Given the description of an element on the screen output the (x, y) to click on. 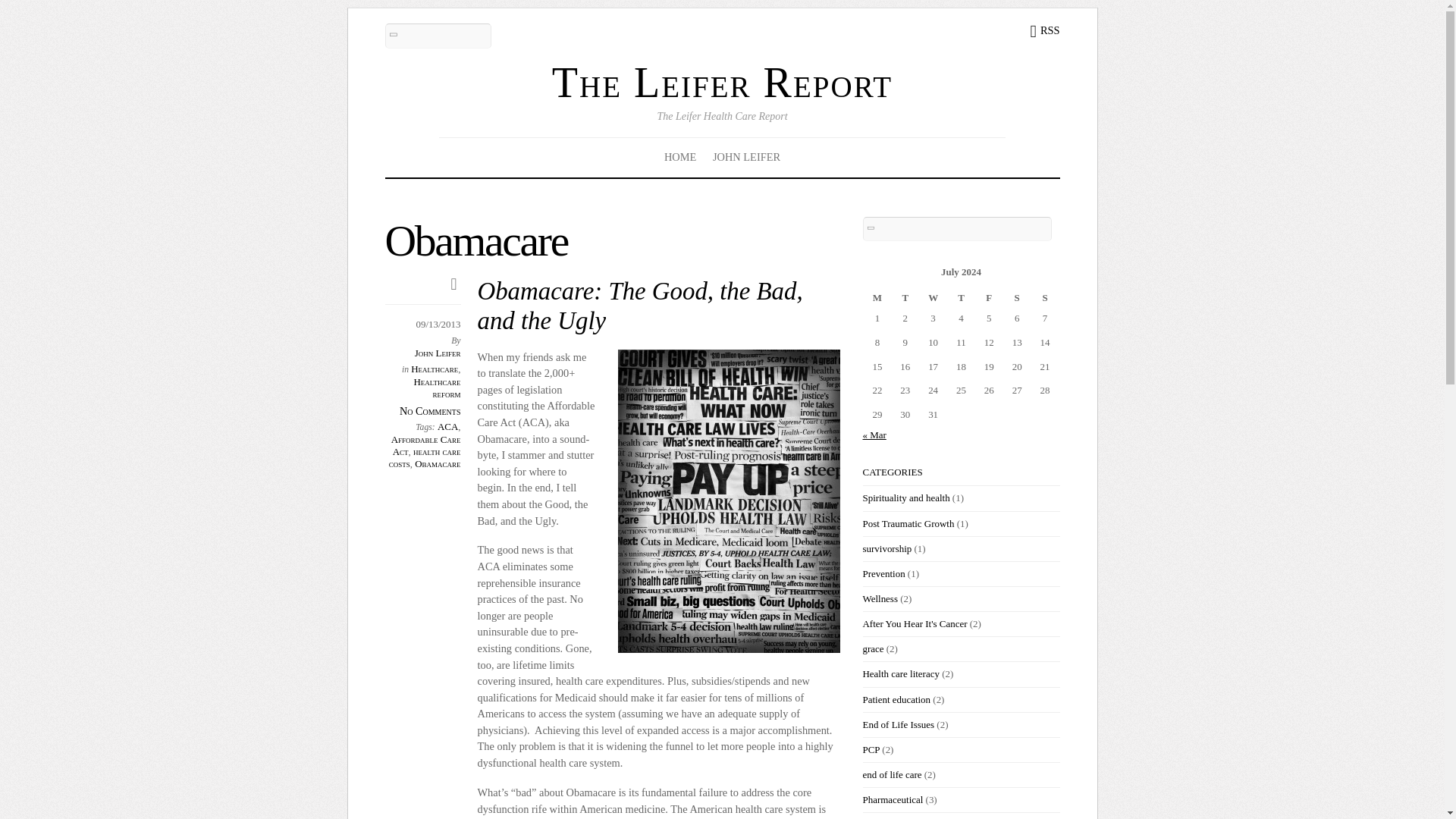
grace (873, 648)
Pharmaceutical (893, 799)
Search (957, 228)
Sunday (1045, 297)
health care costs (424, 457)
John Leifer (437, 352)
Saturday (1017, 297)
Friday (989, 297)
Healthcare reform (436, 387)
Tuesday (904, 297)
Healthcare (434, 368)
ACA (448, 426)
JOHN LEIFER (746, 156)
Prevention (884, 573)
Wellness (880, 598)
